Given the description of an element on the screen output the (x, y) to click on. 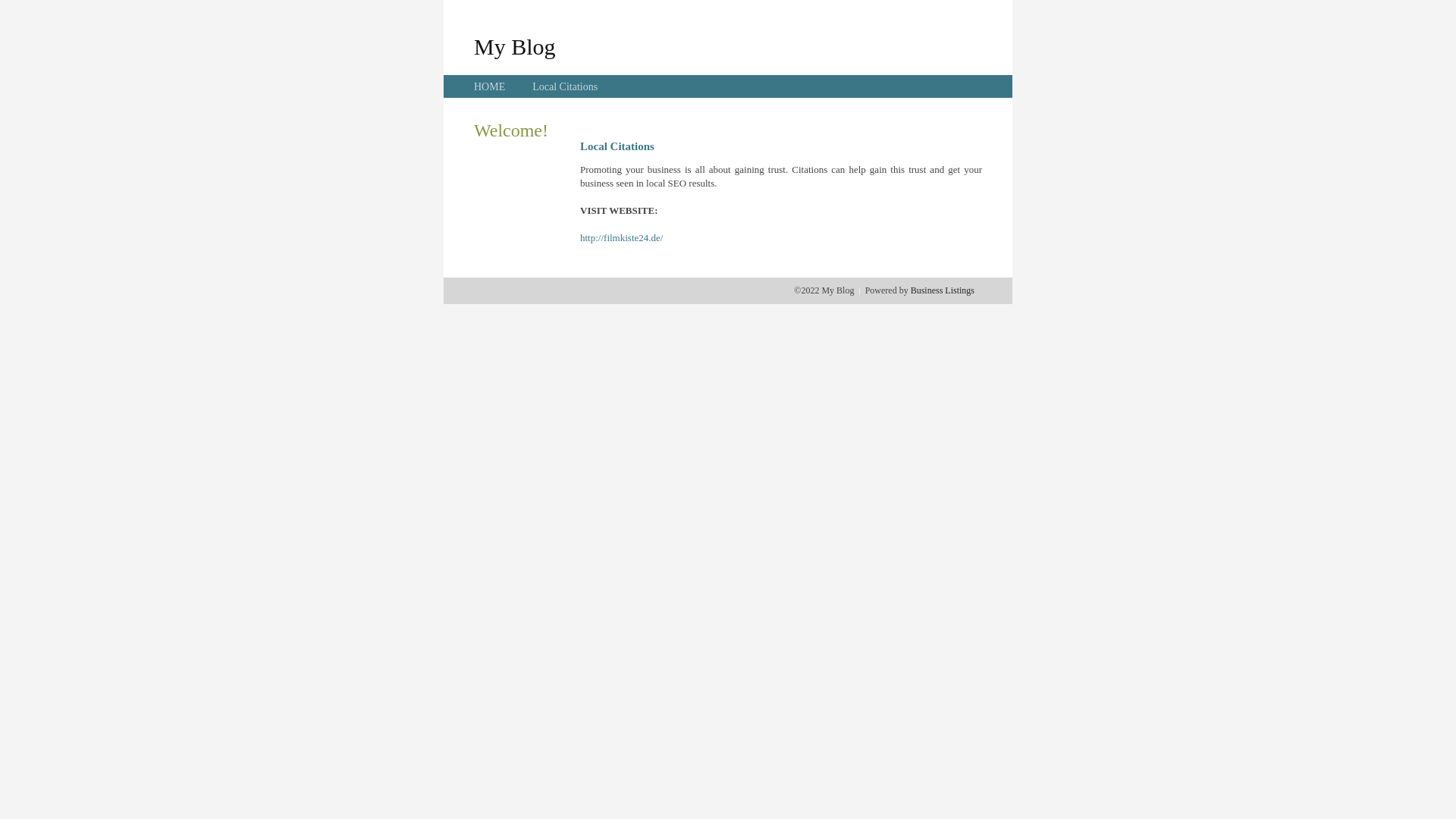
HOME Element type: text (489, 86)
My Blog Element type: text (514, 46)
Local Citations Element type: text (564, 86)
http://filmkiste24.de/ Element type: text (621, 237)
Business Listings Element type: text (942, 290)
